Given the description of an element on the screen output the (x, y) to click on. 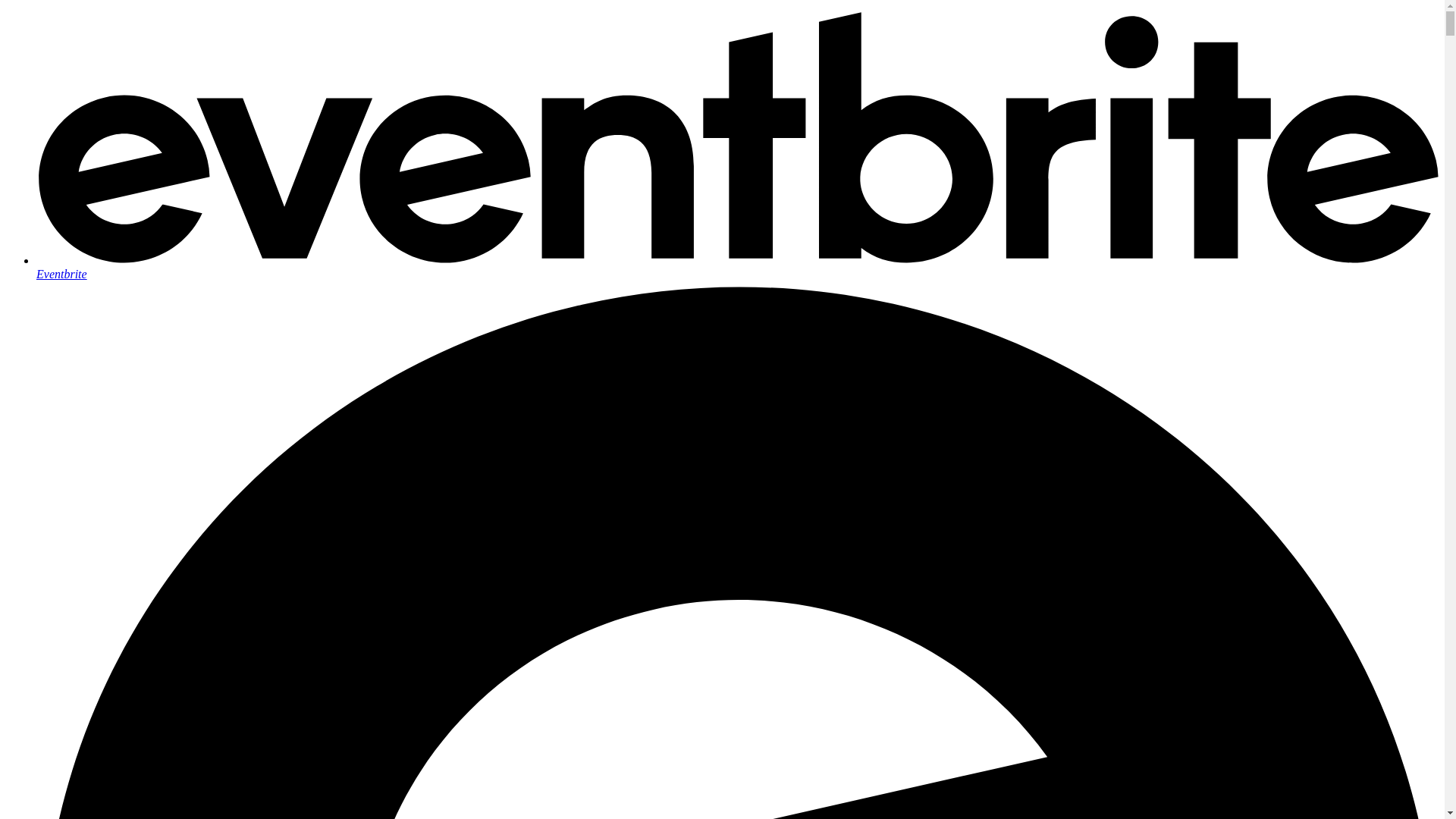
Eventbrite Element type: text (737, 267)
